Given the description of an element on the screen output the (x, y) to click on. 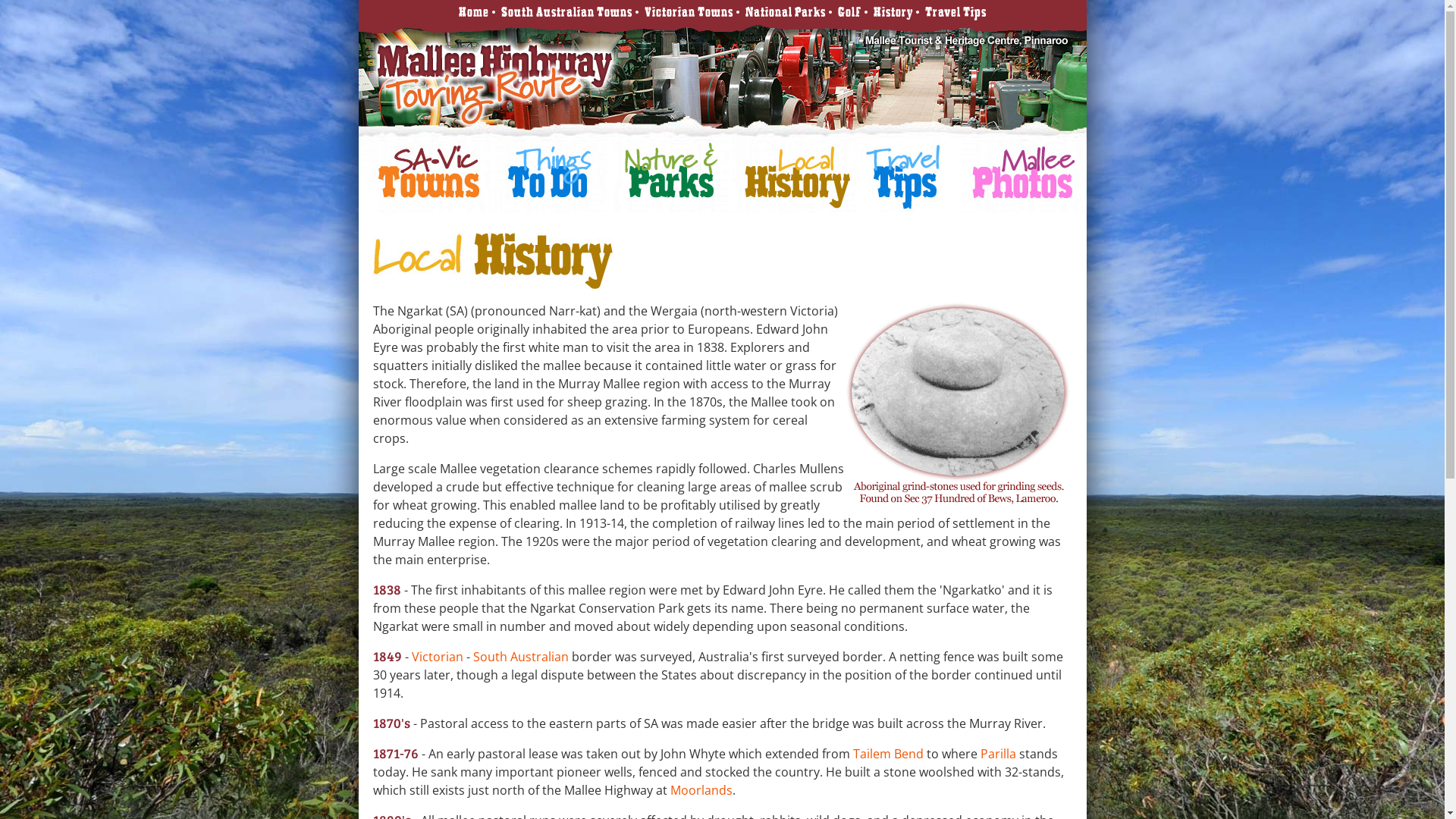
South Australian Towns Element type: text (565, 11)
Victorian Element type: text (437, 656)
Tailem Bend Element type: text (888, 753)
Victorian Towns Element type: text (688, 11)
Travel Tips Element type: text (955, 11)
National Parks Element type: text (784, 11)
South Australian Element type: text (520, 656)
History Element type: text (893, 11)
Moorlands Element type: text (701, 789)
Golf Element type: text (848, 11)
Home Element type: text (473, 11)
Parilla Element type: text (998, 753)
